Given the description of an element on the screen output the (x, y) to click on. 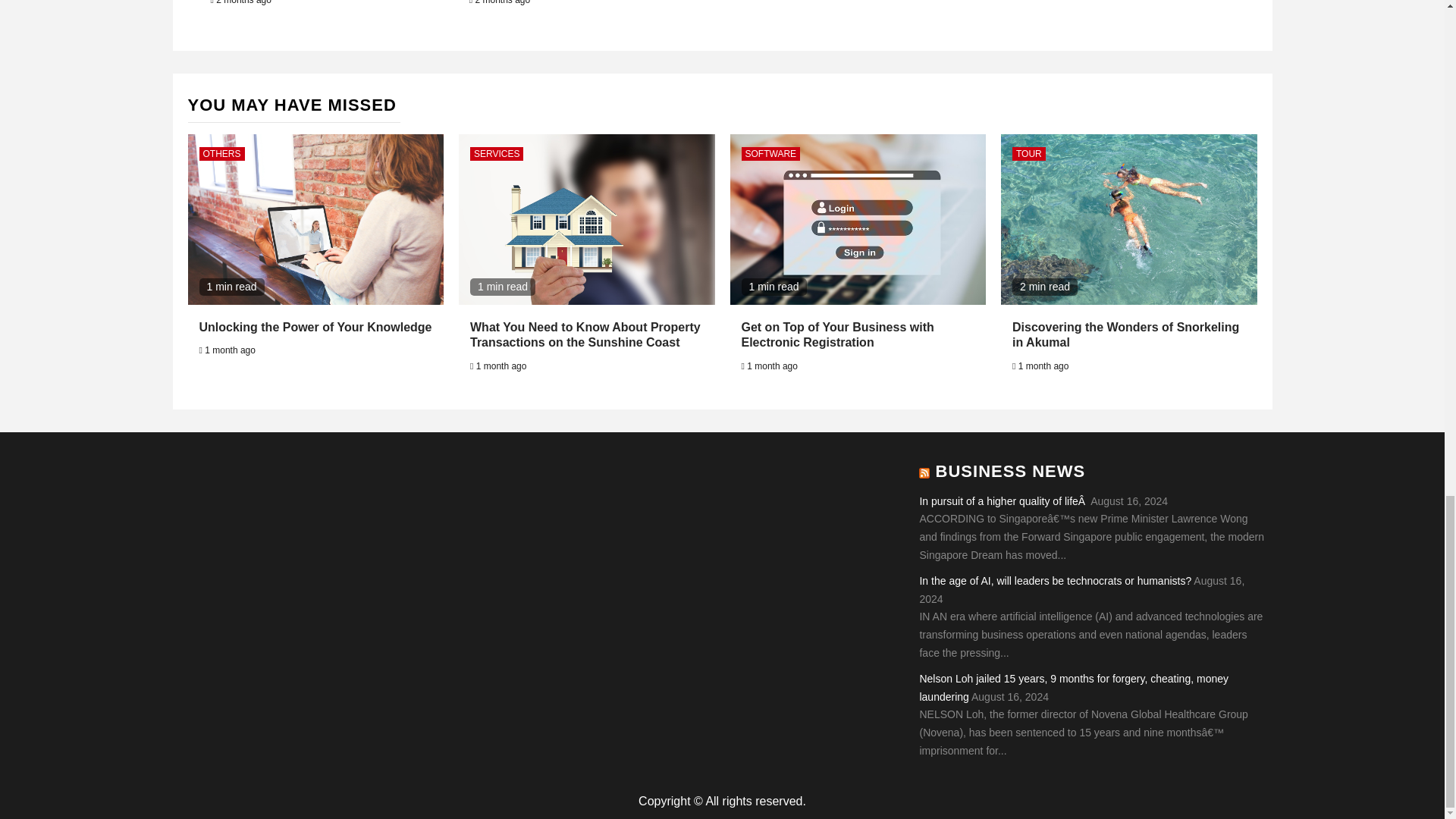
SERVICES (496, 153)
Get on Top of Your Business with Electronic Registration (837, 335)
In the age of AI, will leaders be technocrats or humanists? (1054, 580)
OTHERS (221, 153)
TOUR (1028, 153)
Discovering the Wonders of Snorkeling in Akumal (1125, 335)
SOFTWARE (770, 153)
BUSINESS NEWS (1011, 470)
Unlocking the Power of Your Knowledge (314, 327)
